Given the description of an element on the screen output the (x, y) to click on. 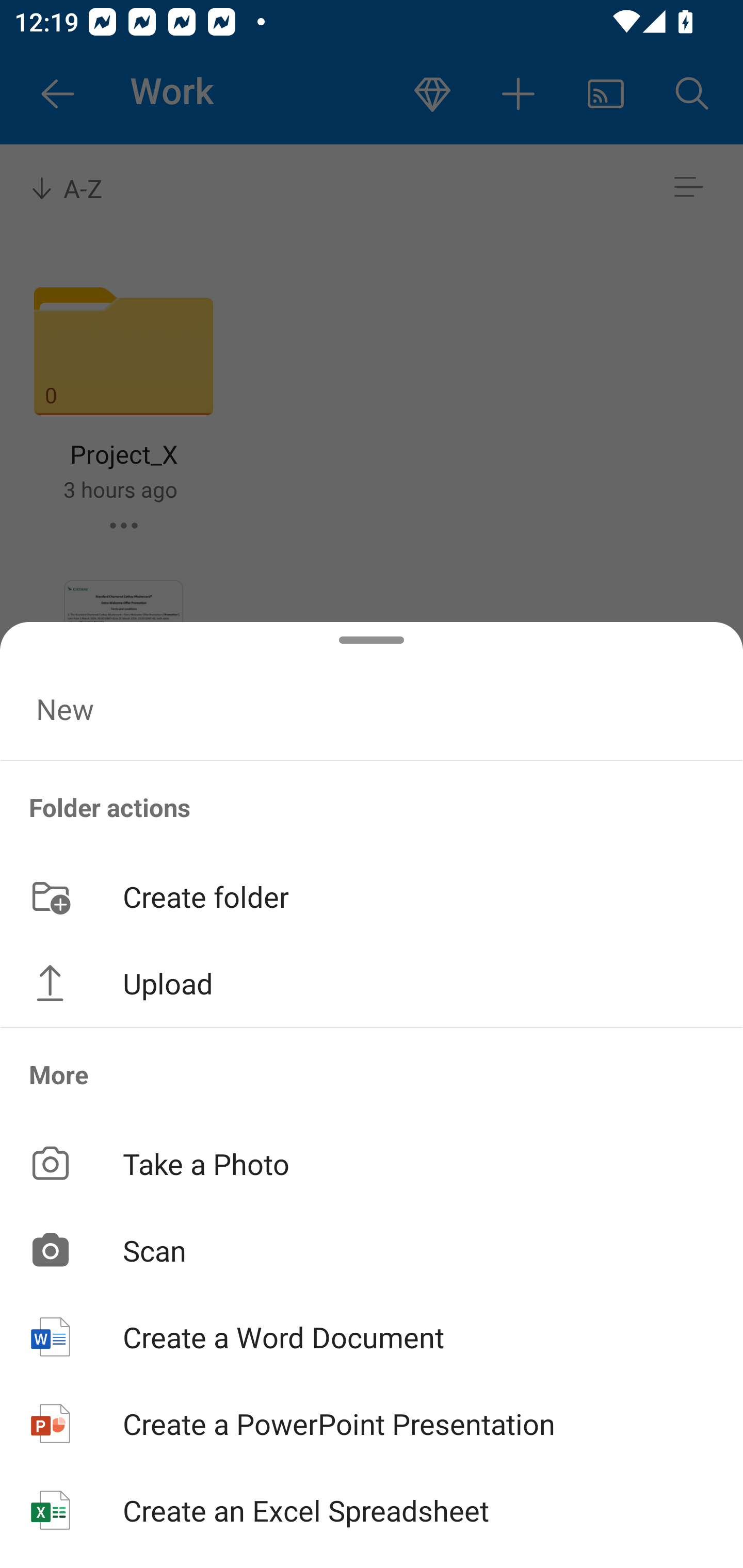
Create folder button Create folder (371, 895)
Upload button Upload (371, 983)
Take a Photo button Take a Photo (371, 1163)
Scan button Scan (371, 1250)
